Given the description of an element on the screen output the (x, y) to click on. 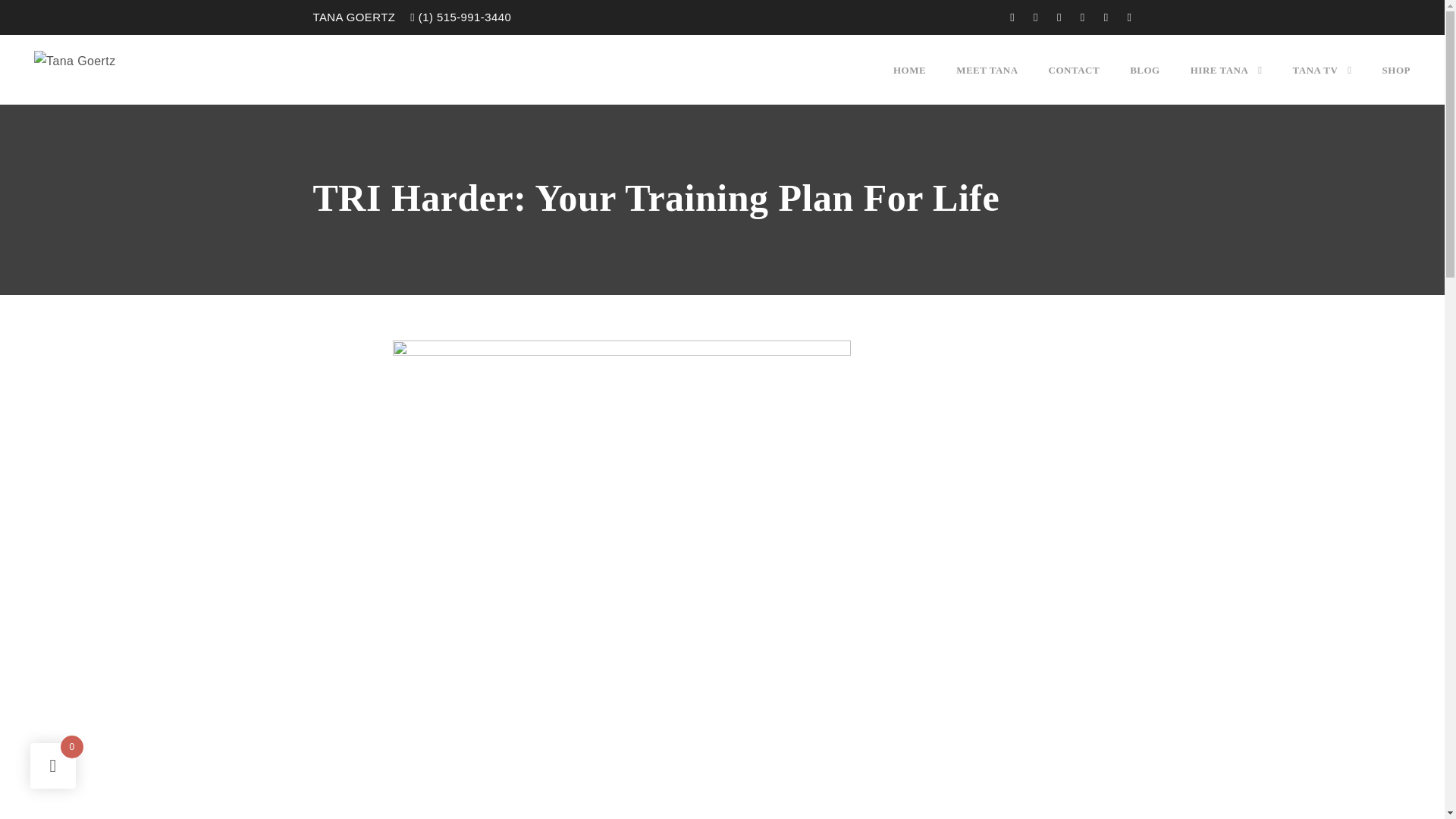
515-991-3440 (473, 16)
MEET TANA (986, 83)
HIRE TANA (1226, 83)
CONTACT (1074, 83)
